Given the description of an element on the screen output the (x, y) to click on. 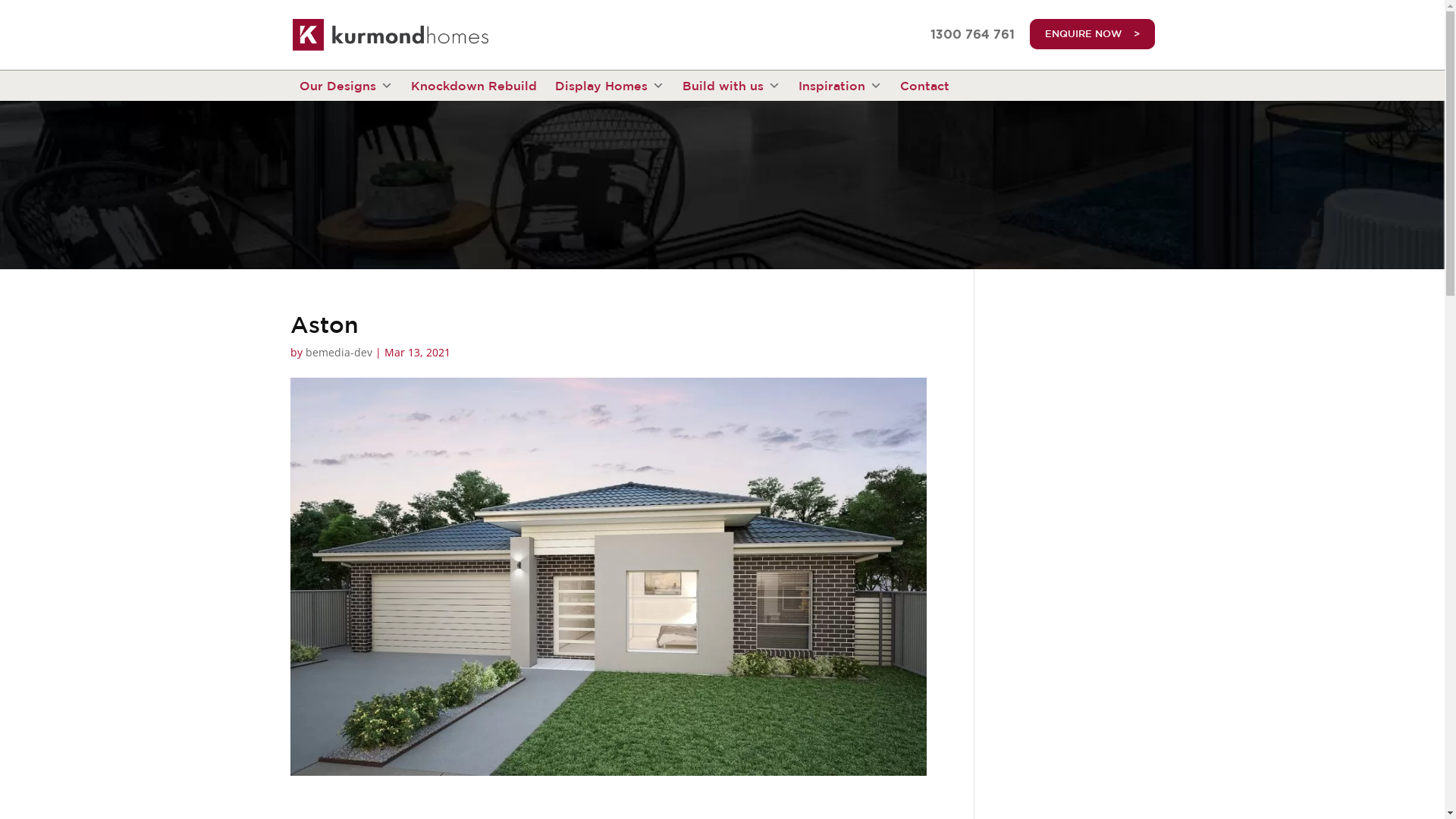
Our Designs Element type: text (345, 85)
1300 764 761 Element type: text (971, 34)
Display Homes Element type: text (609, 85)
Inspiration Element type: text (839, 85)
ENQUIRE NOW Element type: text (1091, 33)
bemedia-dev Element type: text (337, 352)
Contact Element type: text (923, 85)
Build with us Element type: text (731, 85)
Knockdown Rebuild Element type: text (473, 85)
